Given the description of an element on the screen output the (x, y) to click on. 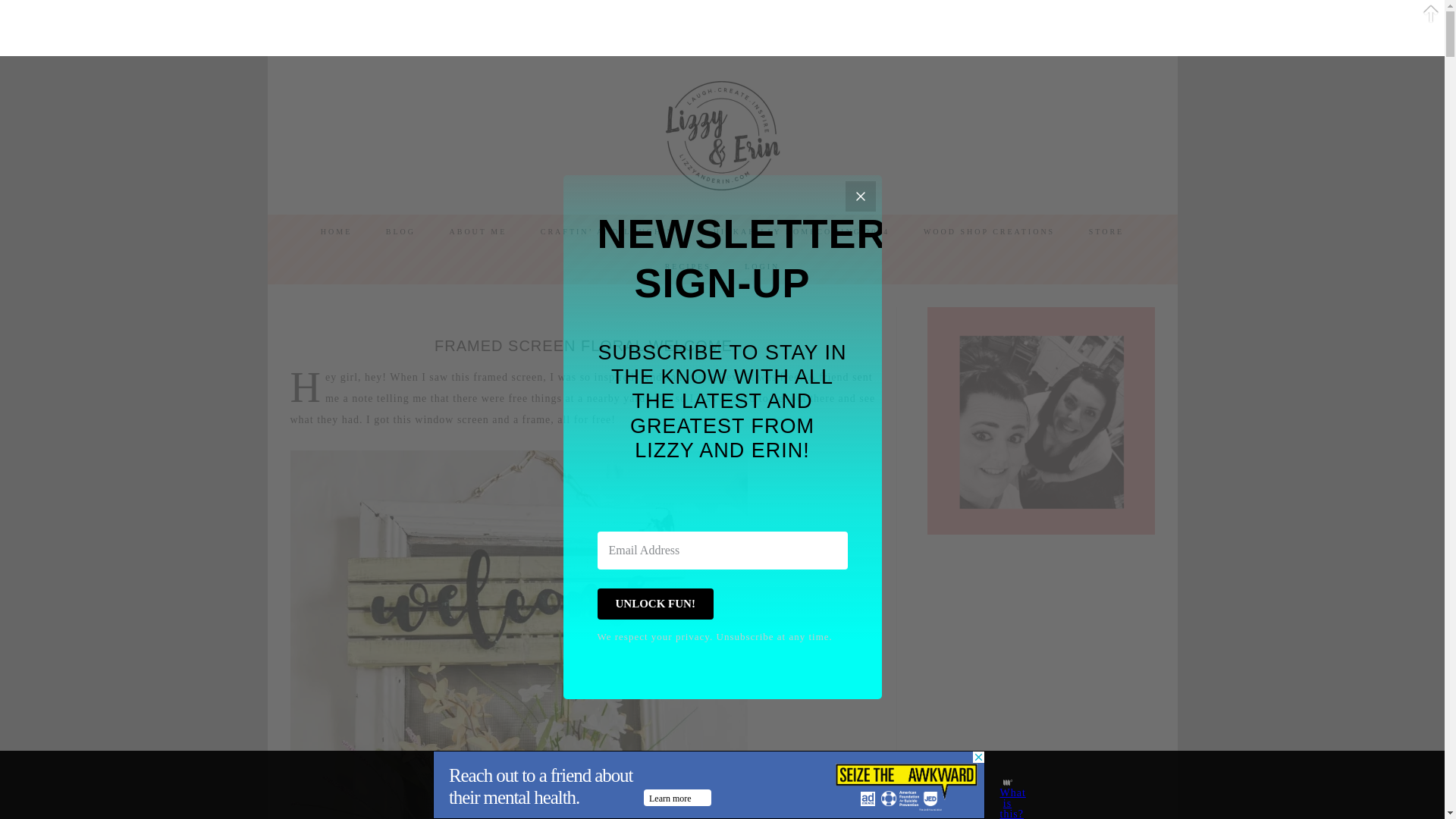
LOGIN (761, 266)
BLOG (400, 231)
WOOD SHOP CREATIONS (989, 231)
3rd party ad content (708, 785)
HICKABILLY HOMECOMING 2024 (801, 231)
RECIPES (687, 266)
STORE (1107, 231)
HOME (335, 231)
ABOUT ME (477, 231)
